Given the description of an element on the screen output the (x, y) to click on. 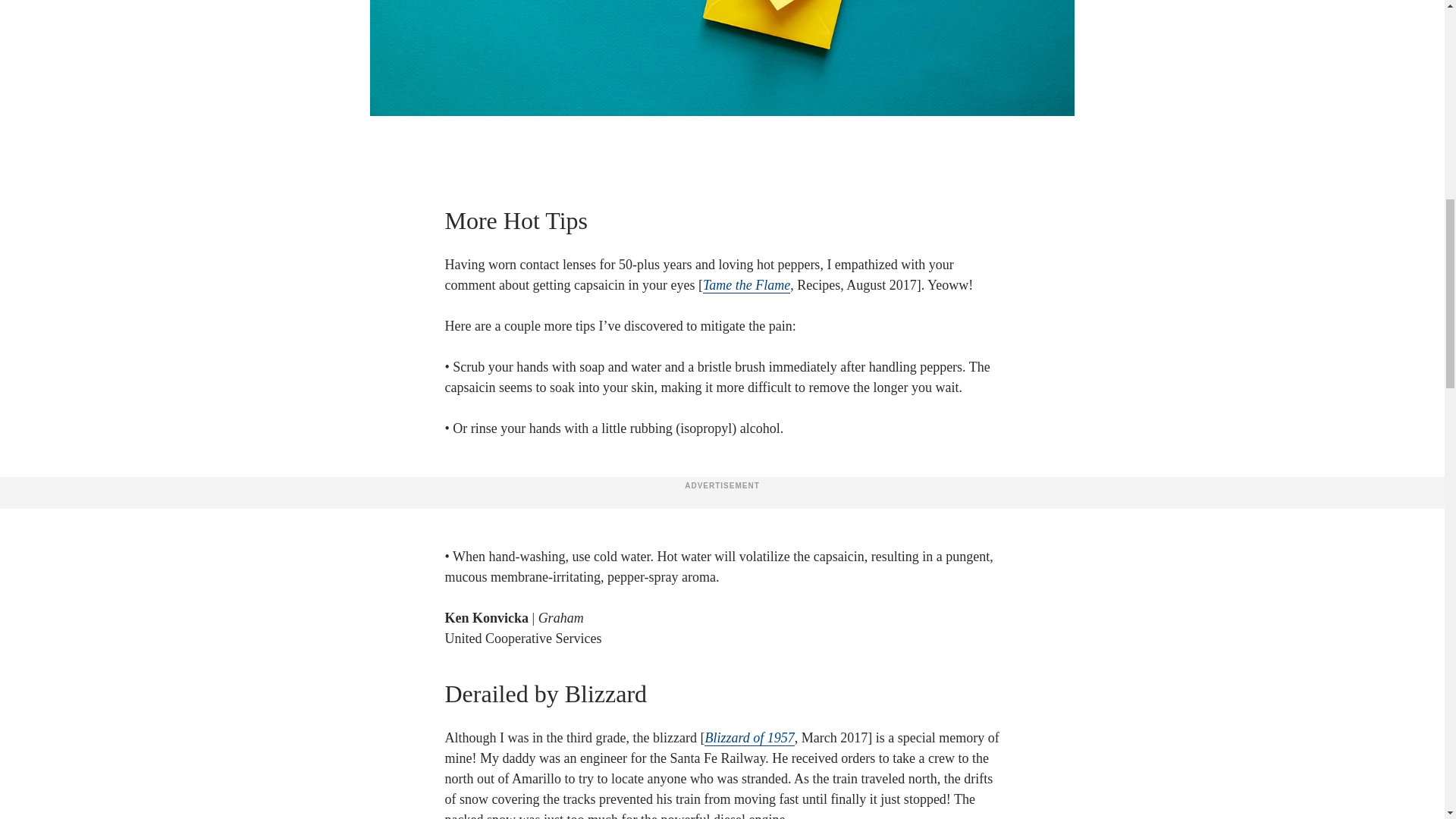
Some Like It Hot (746, 285)
Blizzard of 1957 (748, 738)
